Given the description of an element on the screen output the (x, y) to click on. 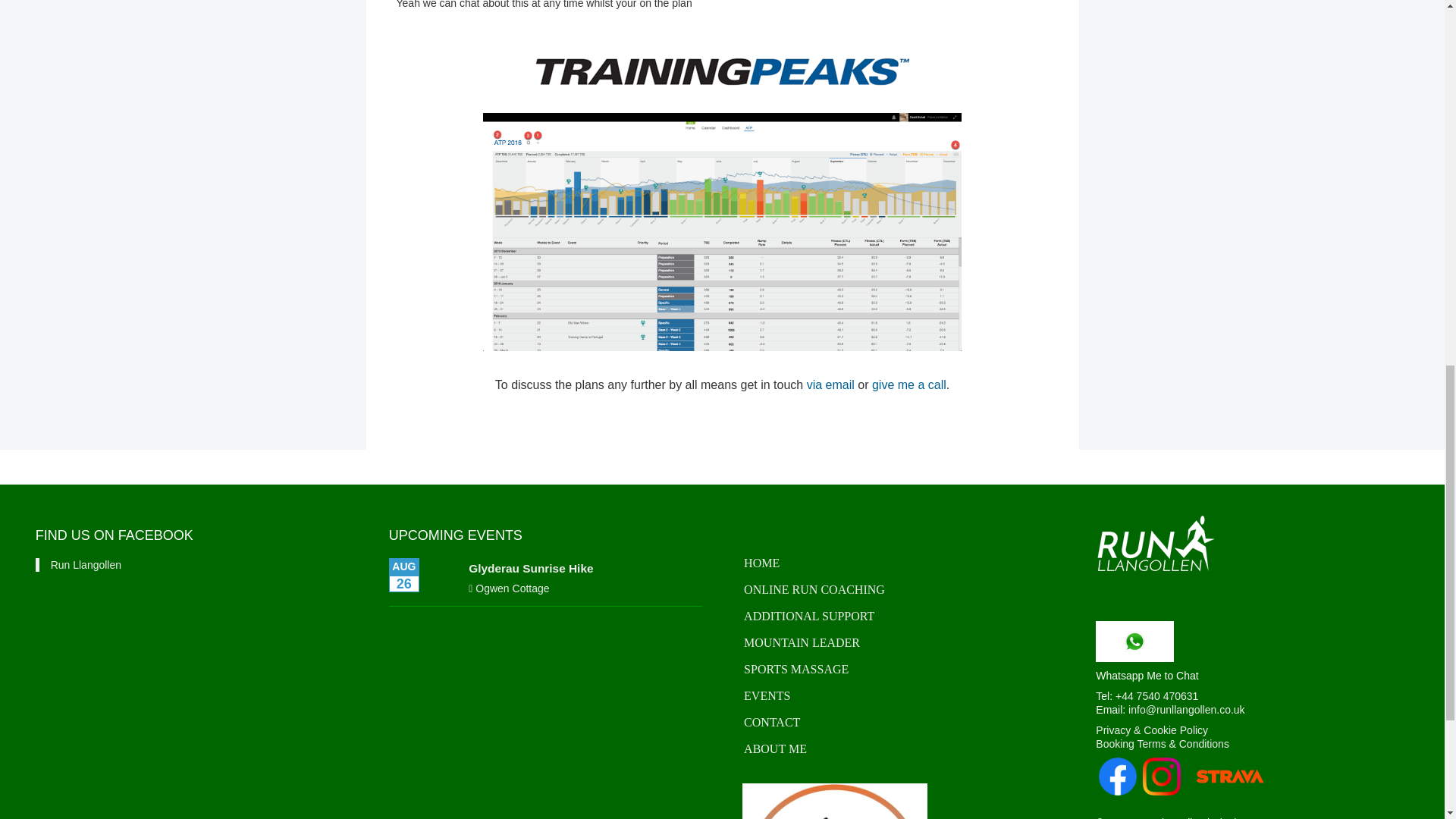
Run Llangollen (85, 564)
ONLINE RUN COACHING (898, 590)
via email (830, 384)
Site by OaD (1240, 817)
CONTACT (898, 723)
give me a call (909, 384)
HOME (898, 563)
EVENTS (898, 696)
MOUNTAIN LEADER (898, 642)
ABOUT ME (898, 749)
